Given the description of an element on the screen output the (x, y) to click on. 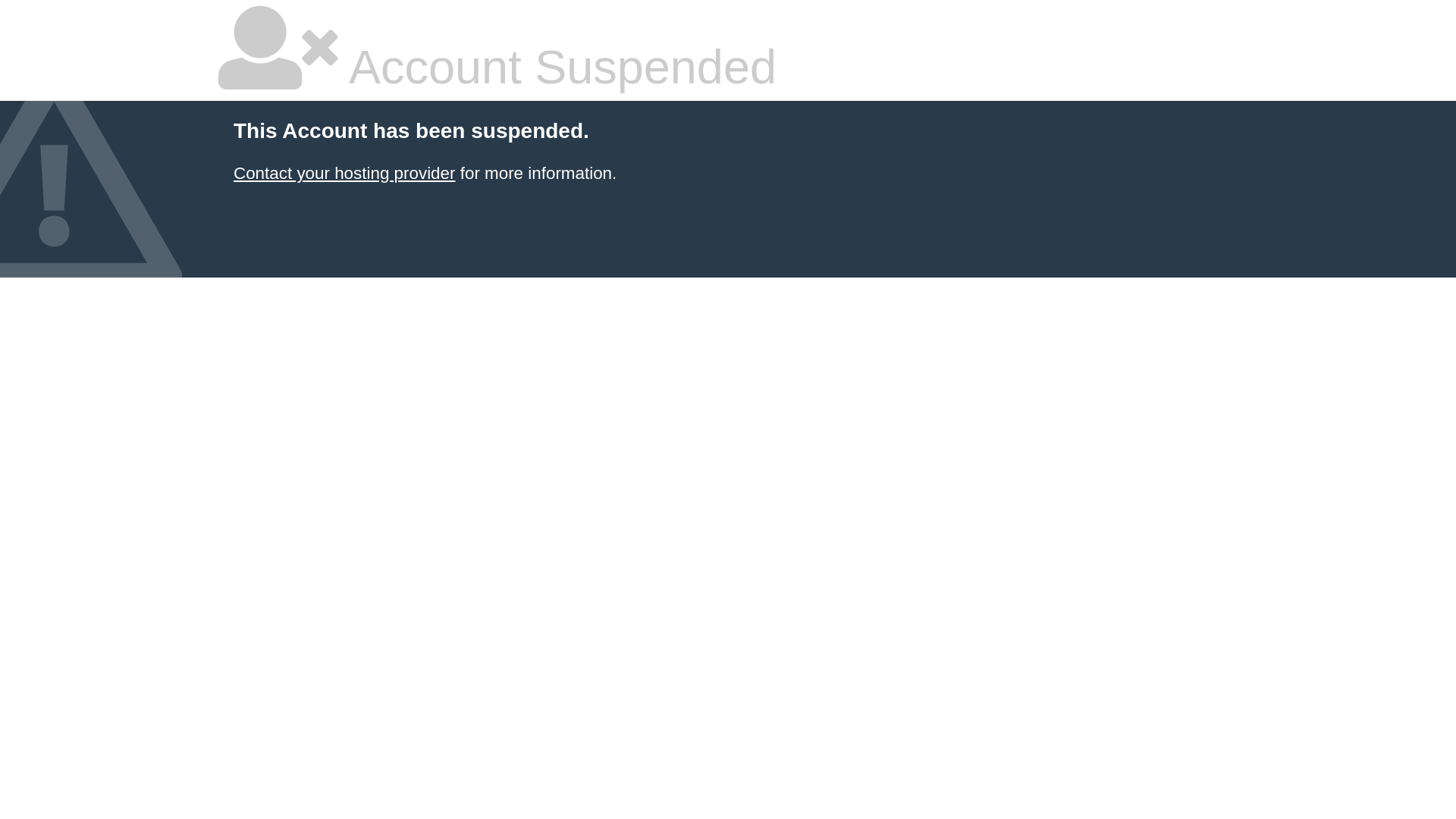
Contact your hosting provider Element type: text (344, 172)
